Given the description of an element on the screen output the (x, y) to click on. 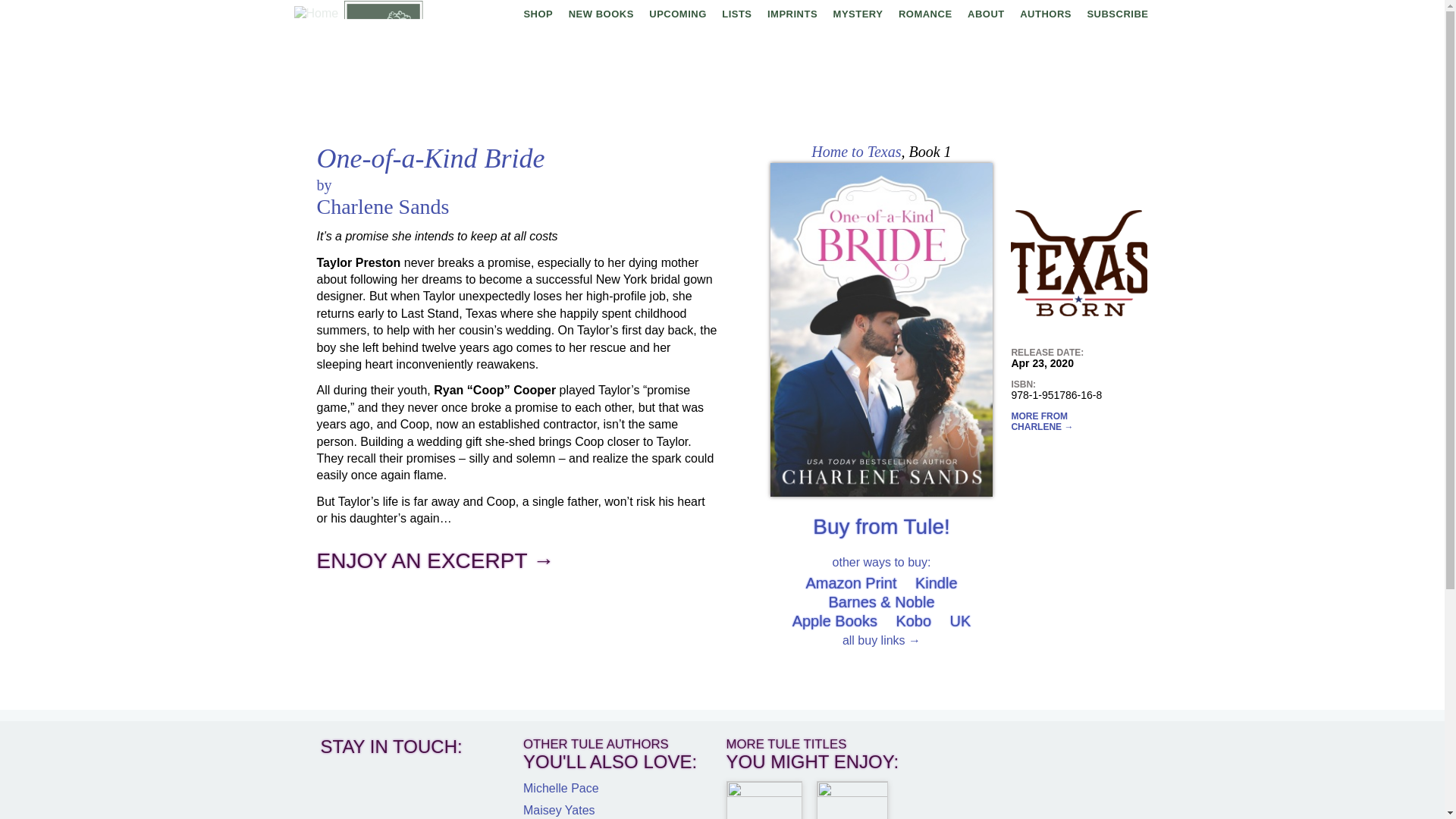
LISTS (736, 13)
UPCOMING (678, 13)
Kindle (936, 582)
Amazon Print (850, 582)
IMPRINTS (792, 13)
Kobo (913, 620)
SUBSCRIBE (1117, 13)
Buy from Tule! (881, 526)
Twitter (437, 13)
ROMANCE (925, 13)
Home to Texas (855, 151)
NEW BOOKS (601, 13)
ABOUT (985, 13)
Charlene Sands (383, 206)
Michelle Pace (560, 788)
